Given the description of an element on the screen output the (x, y) to click on. 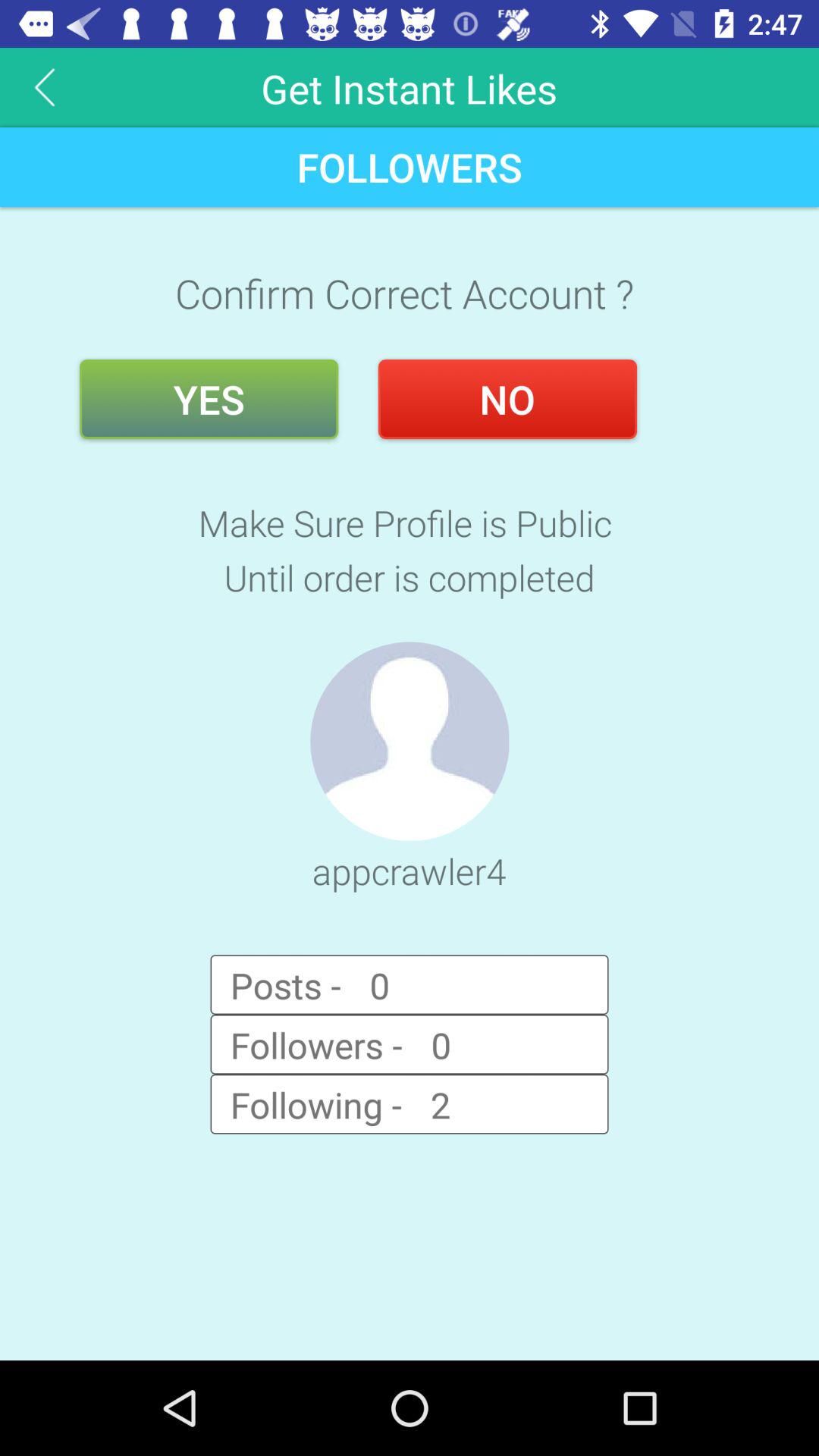
turn on the item next to yes (507, 399)
